Given the description of an element on the screen output the (x, y) to click on. 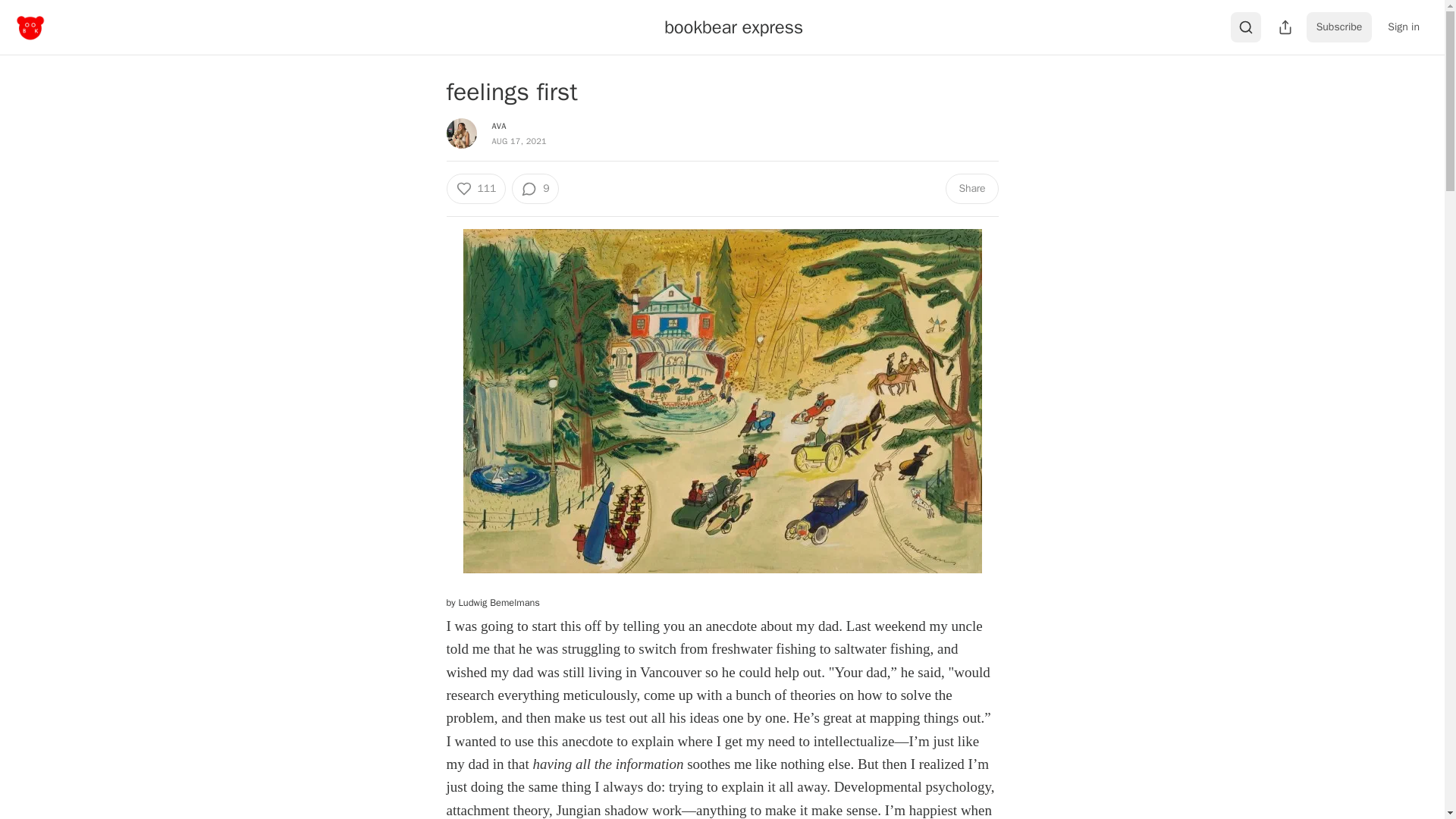
Sign in (1403, 27)
9 (535, 188)
Subscribe (1339, 27)
111 (475, 188)
Share (970, 188)
bookbear express (733, 26)
AVA (498, 125)
